Given the description of an element on the screen output the (x, y) to click on. 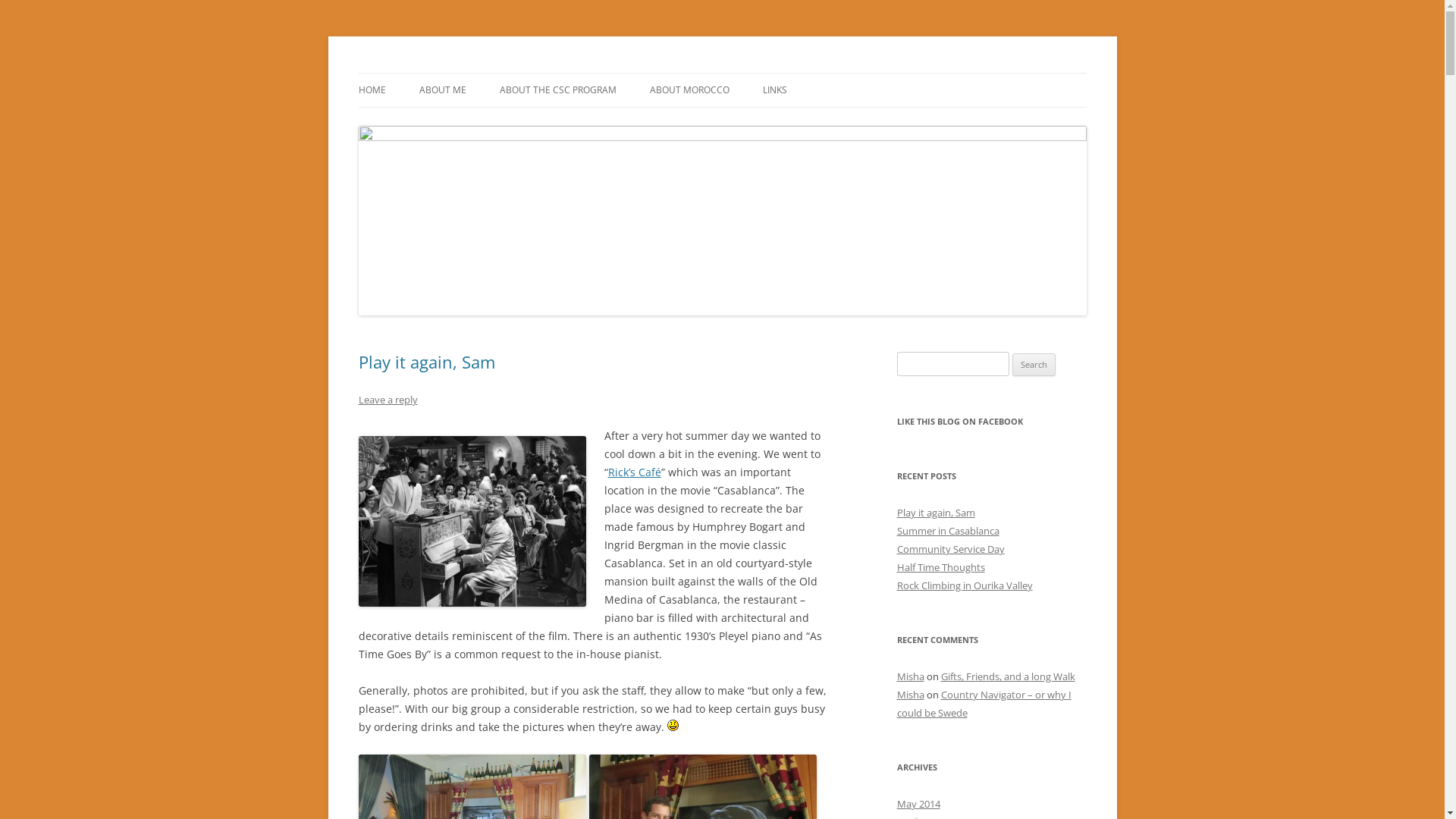
Half Time Thoughts Element type: text (940, 567)
ABOUT ME Element type: text (441, 89)
LINKS Element type: text (774, 89)
Summer in Casablanca Element type: text (947, 530)
Leave a reply Element type: text (387, 399)
Search Element type: text (1033, 364)
Play it again, Sam Element type: text (935, 512)
Misha Element type: text (909, 676)
Play it again, Sam Element type: text (425, 361)
Community Service Day Element type: text (950, 548)
May 2014 Element type: text (917, 803)
HOME Element type: text (371, 89)
ABOUT MOROCCO Element type: text (688, 89)
Misha Element type: text (909, 694)
Gifts, Friends, and a long Walk Element type: text (1007, 676)
Skip to content Element type: text (759, 77)
Rock Climbing in Ourika Valley Element type: text (964, 585)
ABOUT THE CSC PROGRAM Element type: text (556, 89)
